Given the description of an element on the screen output the (x, y) to click on. 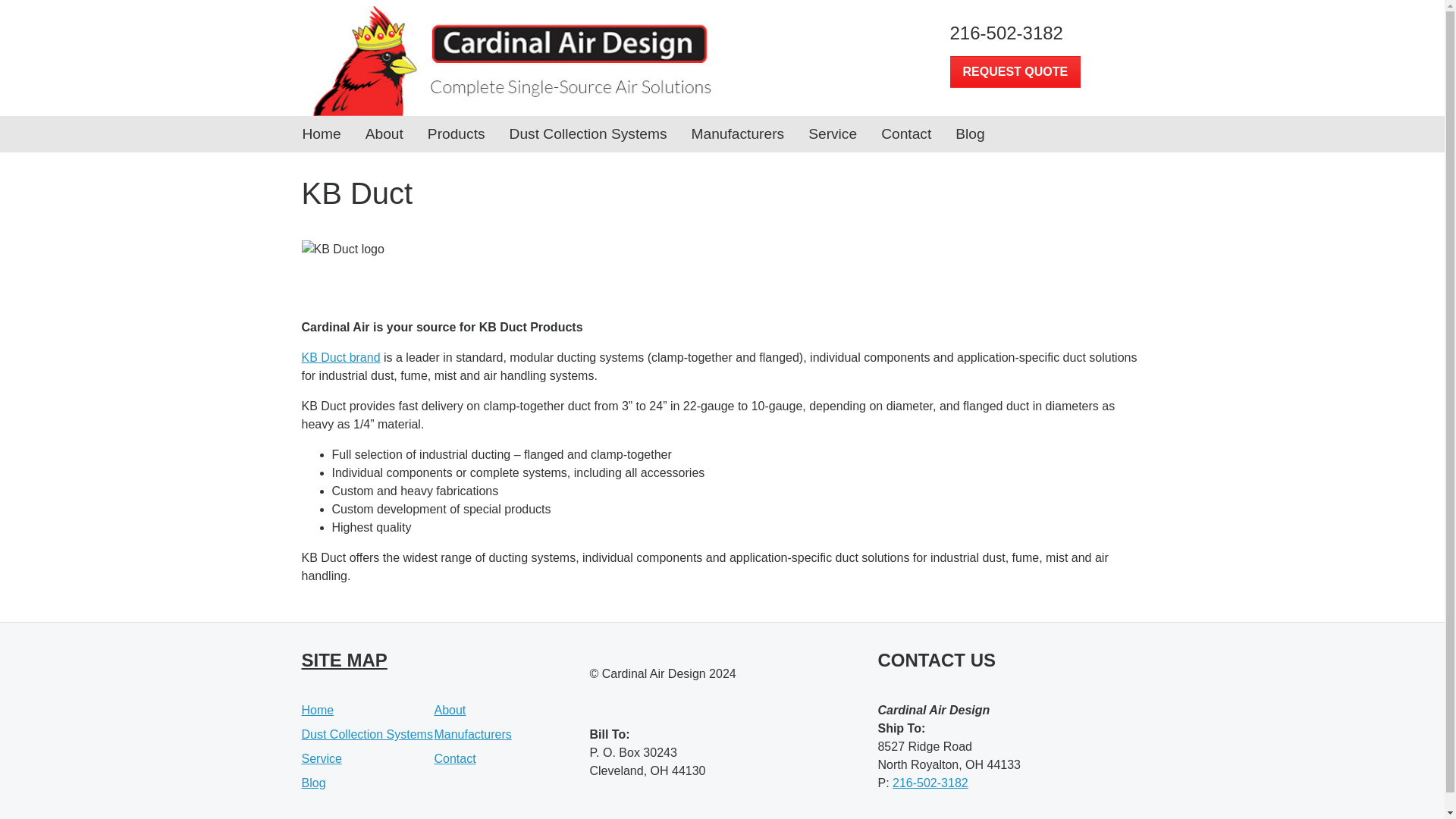
Manufacturers (737, 134)
SITE MAP (344, 660)
Home (317, 709)
Contact (905, 134)
Dust Collection Systems (587, 134)
KB Duct brand (340, 357)
Home (320, 134)
About (449, 709)
216-502-3182 (1045, 32)
REQUEST QUOTE (1014, 71)
About (384, 134)
Service (832, 134)
Products (456, 134)
Cardinal Air - Complete Single-Source Air Solutions (506, 60)
